Given the description of an element on the screen output the (x, y) to click on. 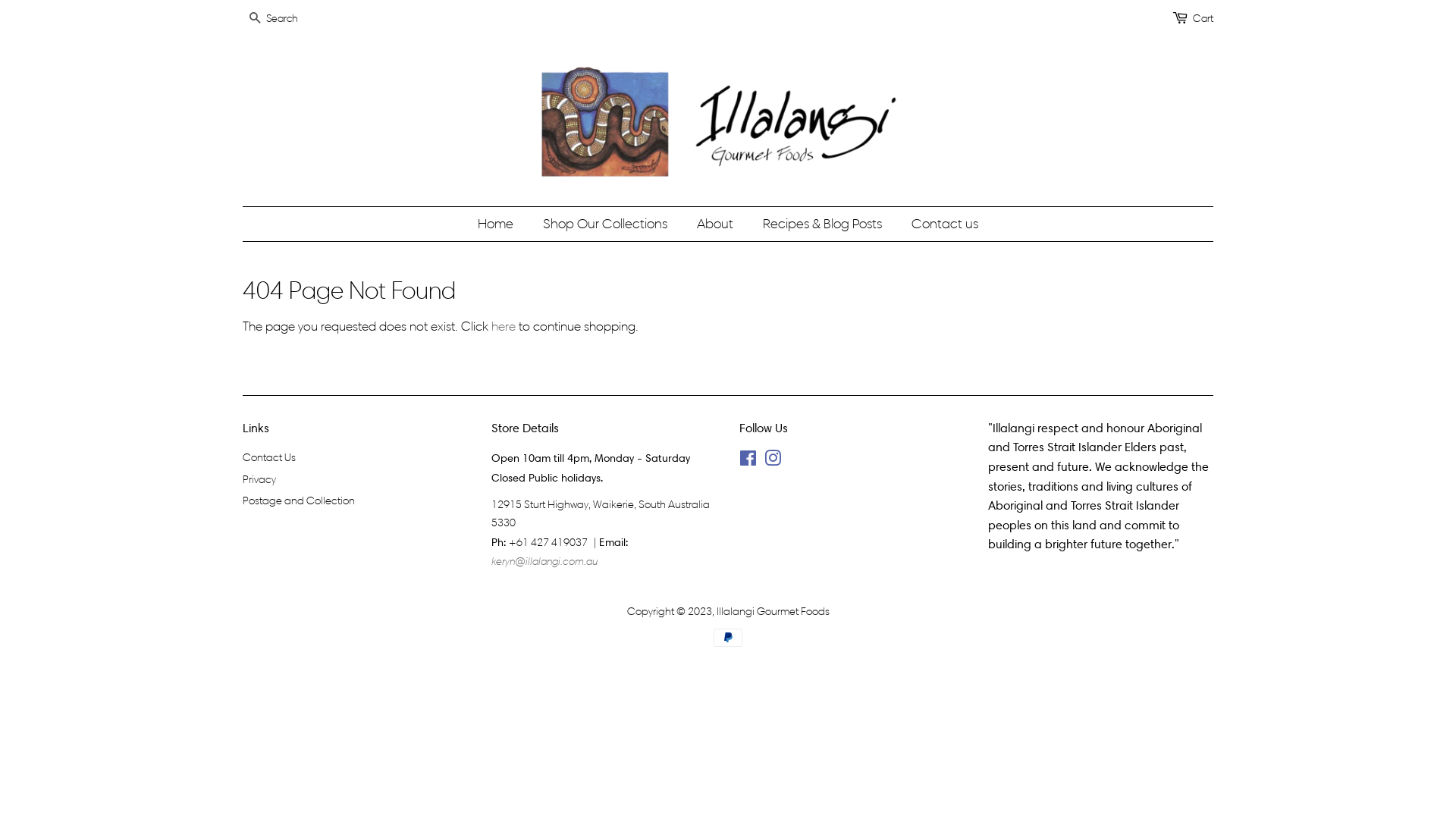
Facebook Element type: text (747, 461)
Contact us Element type: text (939, 224)
Shop Our Collections Element type: text (606, 224)
Search Element type: text (254, 18)
keryn@illalangi.com.au Element type: text (544, 561)
Home Element type: text (502, 224)
Postage and Collection Element type: text (298, 500)
Privacy Element type: text (259, 479)
Contact Us Element type: text (268, 457)
Cart Element type: text (1202, 18)
here Element type: text (503, 326)
Instagram Element type: text (772, 461)
Illalangi Gourmet Foods Element type: text (771, 611)
Recipes & Blog Posts Element type: text (824, 224)
About Element type: text (716, 224)
